Given the description of an element on the screen output the (x, y) to click on. 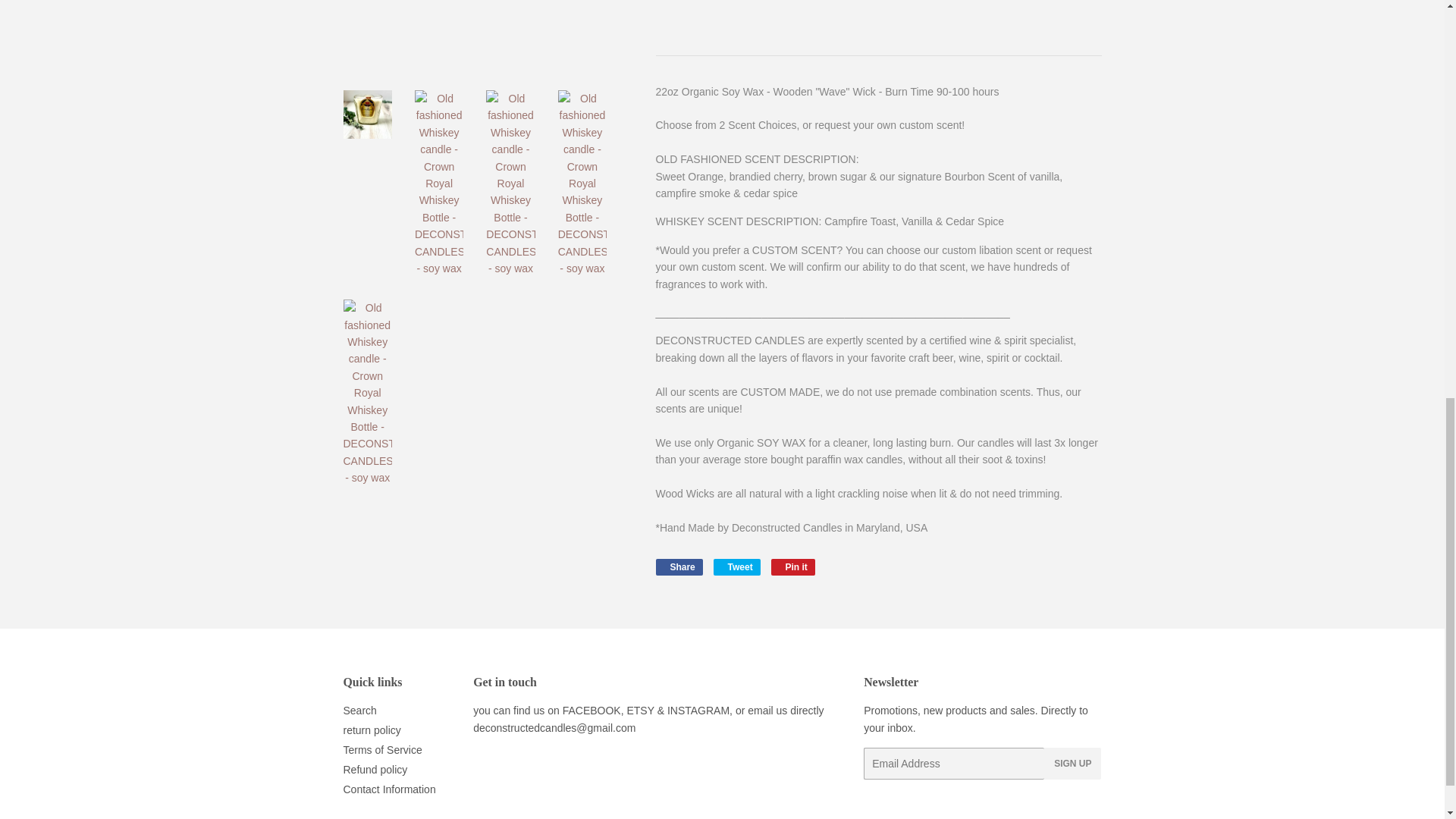
Share on Facebook (678, 566)
Pin on Pinterest (793, 566)
Tweet on Twitter (736, 566)
